Given the description of an element on the screen output the (x, y) to click on. 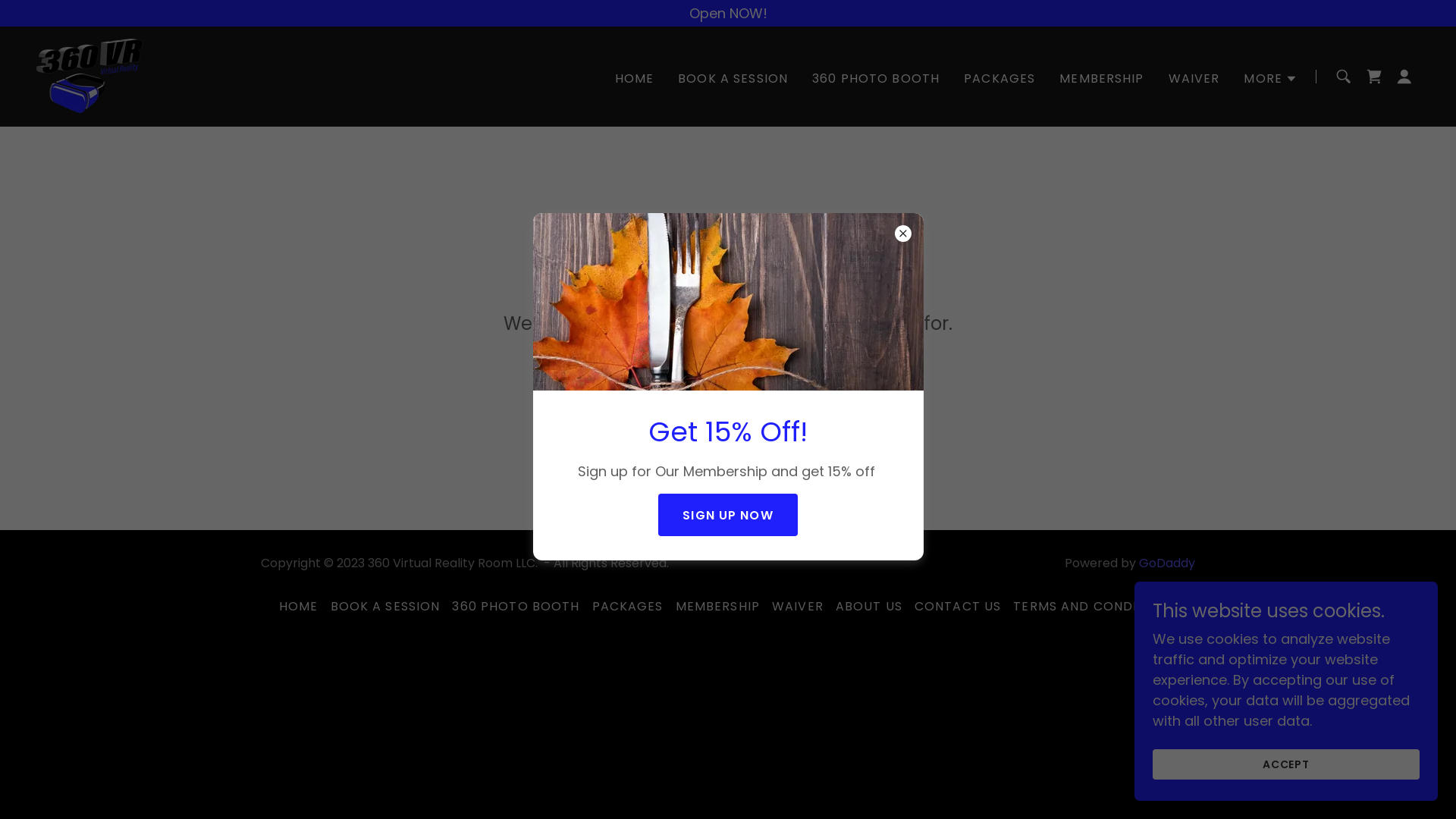
MEMBERSHIP Element type: text (717, 605)
SIGN UP NOW Element type: text (727, 514)
TERMS AND CONDITIONS Element type: text (1095, 605)
PACKAGES Element type: text (626, 605)
MEMBERSHIP Element type: text (1101, 78)
WAIVER Element type: text (1194, 78)
BOOK A SESSION Element type: text (732, 78)
HOME Element type: text (634, 78)
BOOK A SESSION Element type: text (385, 605)
GO TO HOME PAGE Element type: text (727, 382)
CONTACT US Element type: text (957, 605)
360VR Element type: hover (89, 74)
GoDaddy Element type: text (1167, 562)
PACKAGES Element type: text (999, 78)
WAIVER Element type: text (797, 605)
ACCEPT Element type: text (1285, 764)
MORE Element type: text (1270, 78)
ABOUT US Element type: text (868, 605)
360 PHOTO BOOTH Element type: text (515, 605)
360 PHOTO BOOTH Element type: text (875, 78)
HOME Element type: text (298, 605)
